Given the description of an element on the screen output the (x, y) to click on. 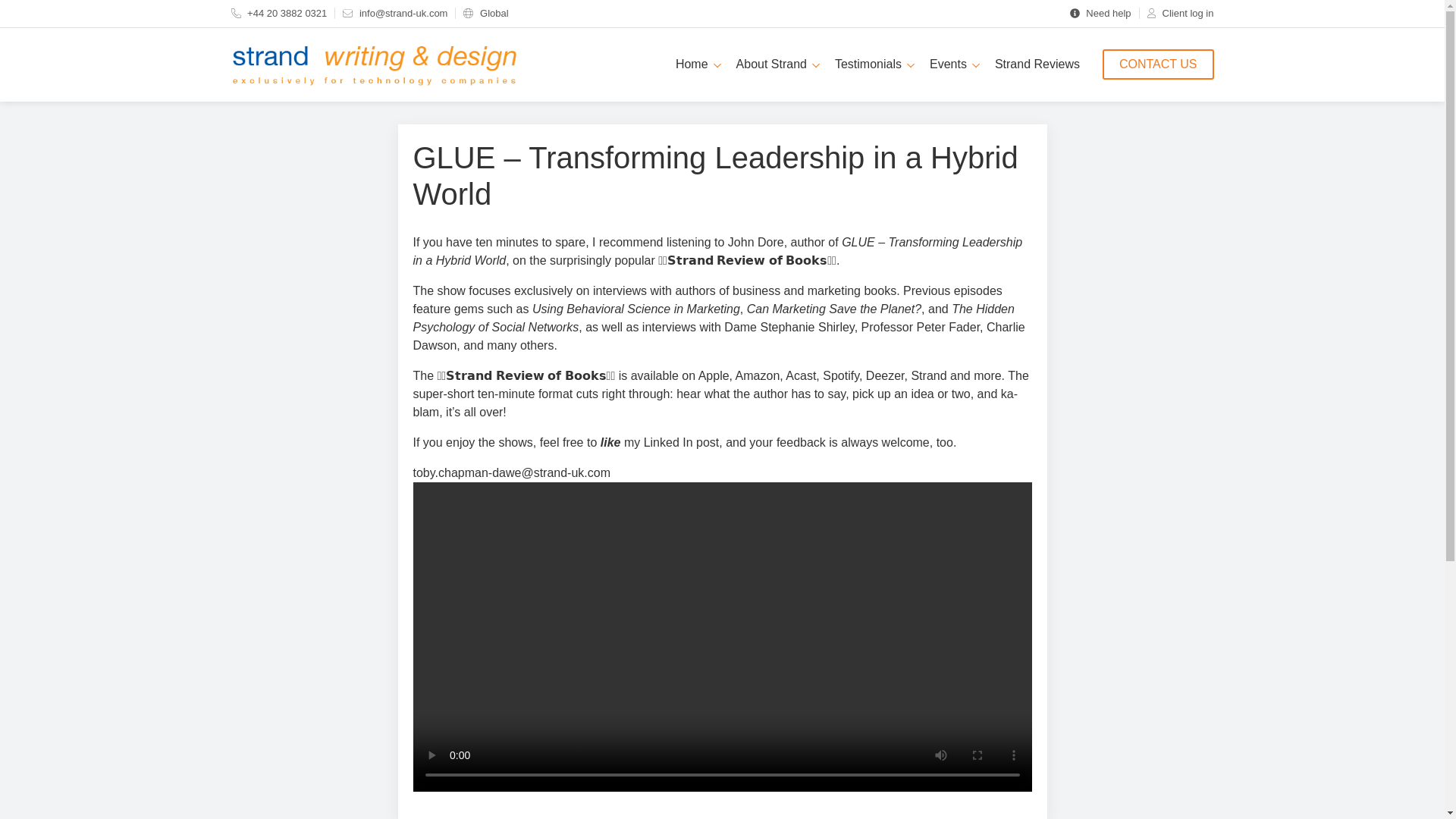
Need help (1100, 12)
Events (954, 64)
Testimonials (874, 64)
Client log in (1180, 12)
Home (698, 64)
About Strand (778, 64)
Global (485, 12)
